Given the description of an element on the screen output the (x, y) to click on. 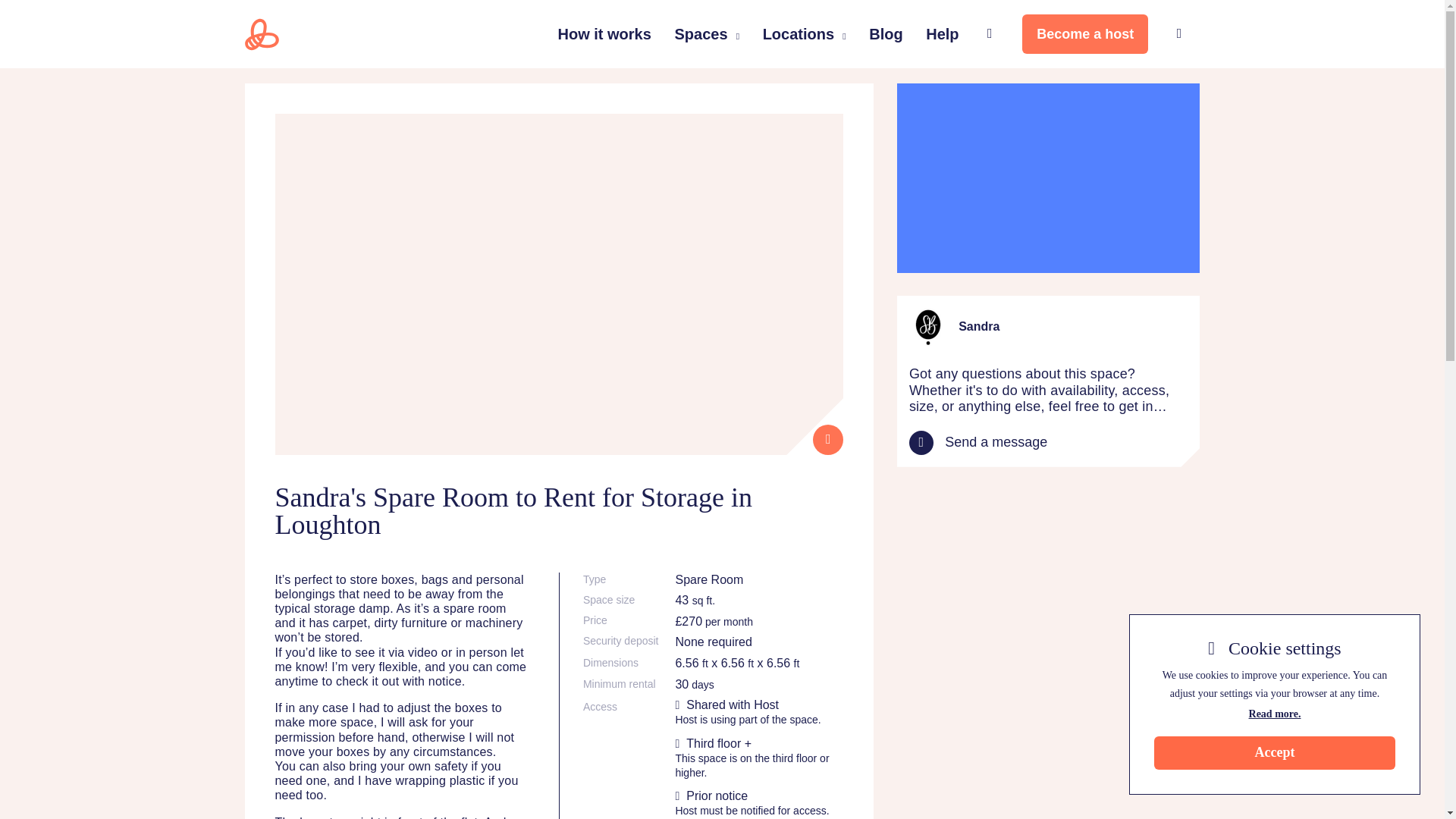
How it works (604, 33)
Read more. (1274, 713)
Instant book (827, 440)
Accept (1274, 752)
